Given the description of an element on the screen output the (x, y) to click on. 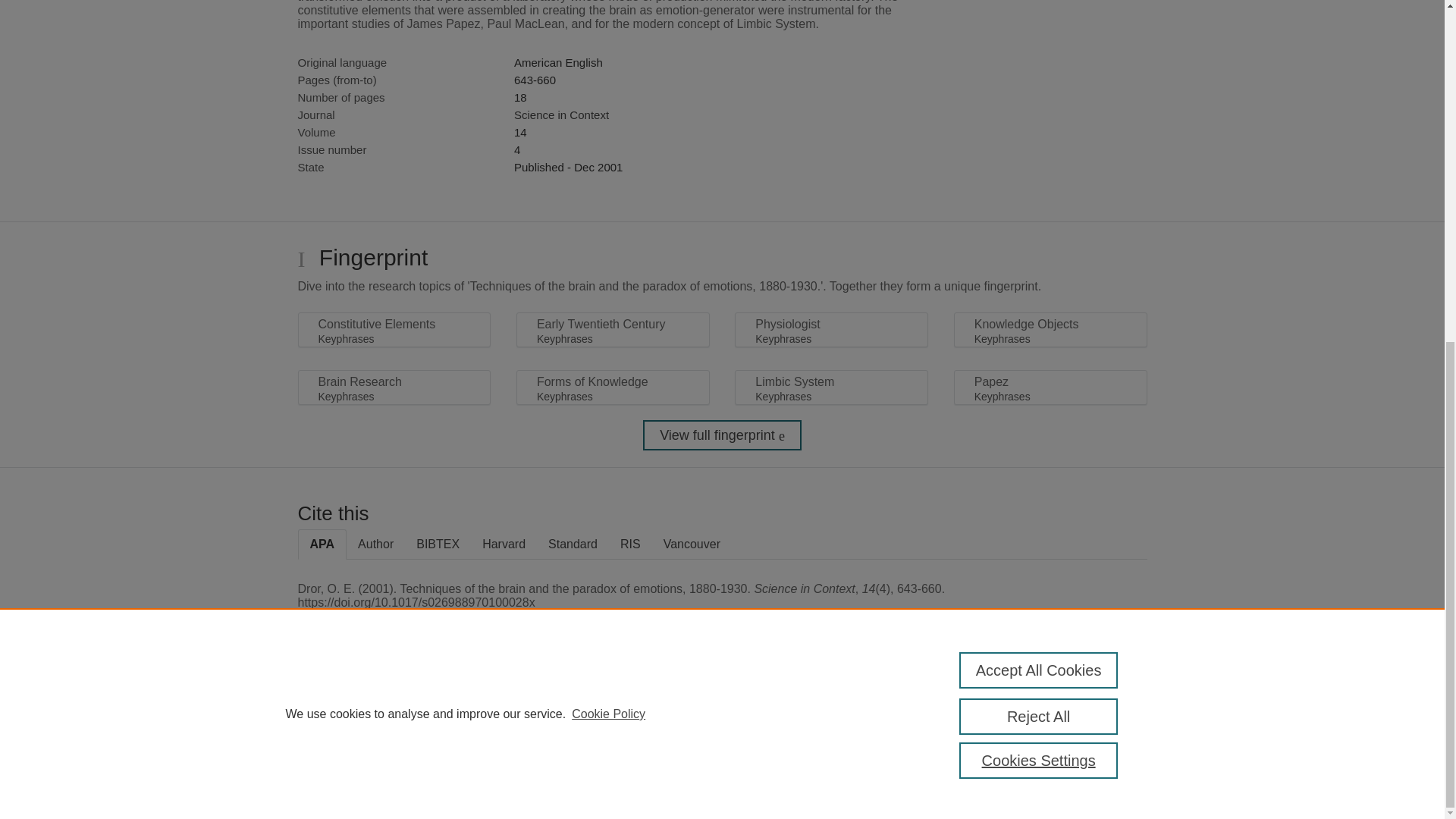
Cookies Settings (1038, 178)
Reject All (1038, 135)
Pure (362, 708)
Science in Context (560, 114)
Cookies Settings (334, 781)
Elsevier B.V. (506, 728)
Scopus (394, 708)
Report vulnerability (1088, 745)
View full fingerprint (722, 435)
use of cookies (796, 760)
About web accessibility (1088, 713)
Cookie Policy (608, 132)
